Given the description of an element on the screen output the (x, y) to click on. 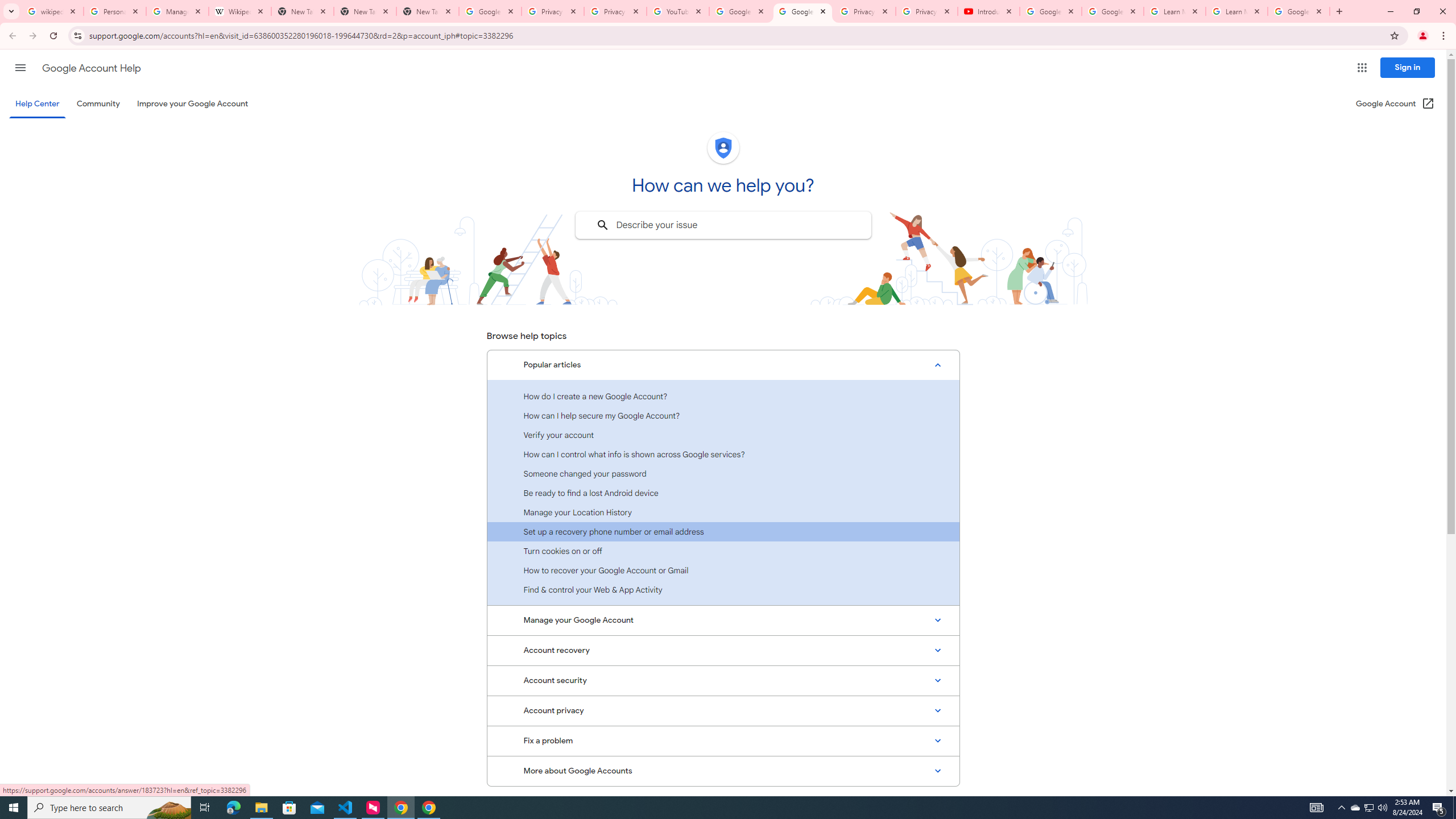
How can I control what info is shown across Google services? (722, 454)
Manage your Location History (722, 512)
Google Account Help (1050, 11)
Improve your Google Account (192, 103)
Google Account (1298, 11)
